Given the description of an element on the screen output the (x, y) to click on. 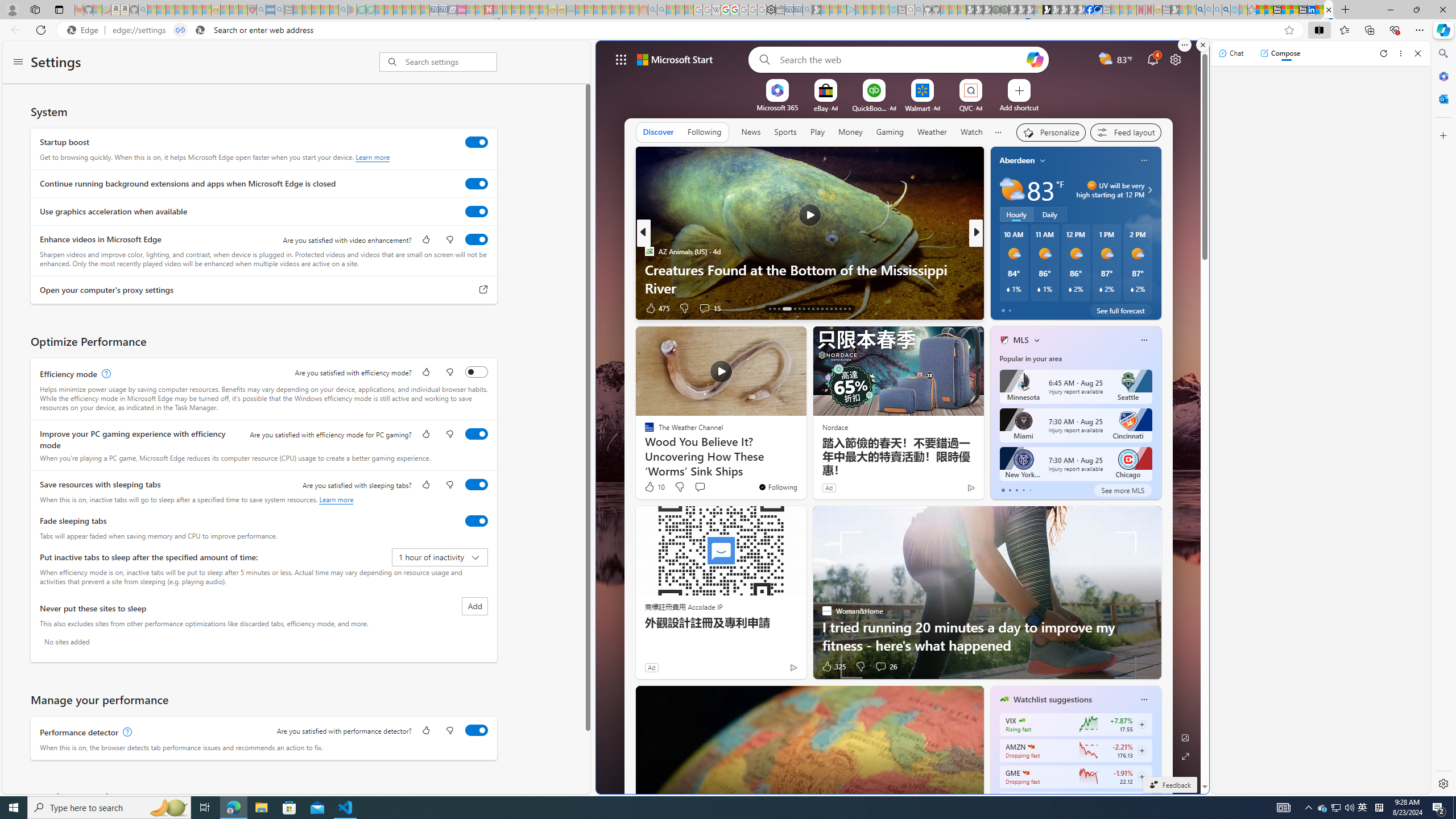
See more MLS (1122, 490)
View comments 2 Comment (1051, 307)
How to Turn Off Copilot in Windows 11 (1159, 287)
Close split screen. (1202, 45)
AutomationID: tab-20 (808, 308)
tab-2 (1016, 489)
AutomationID: tab-28 (845, 308)
